Given the description of an element on the screen output the (x, y) to click on. 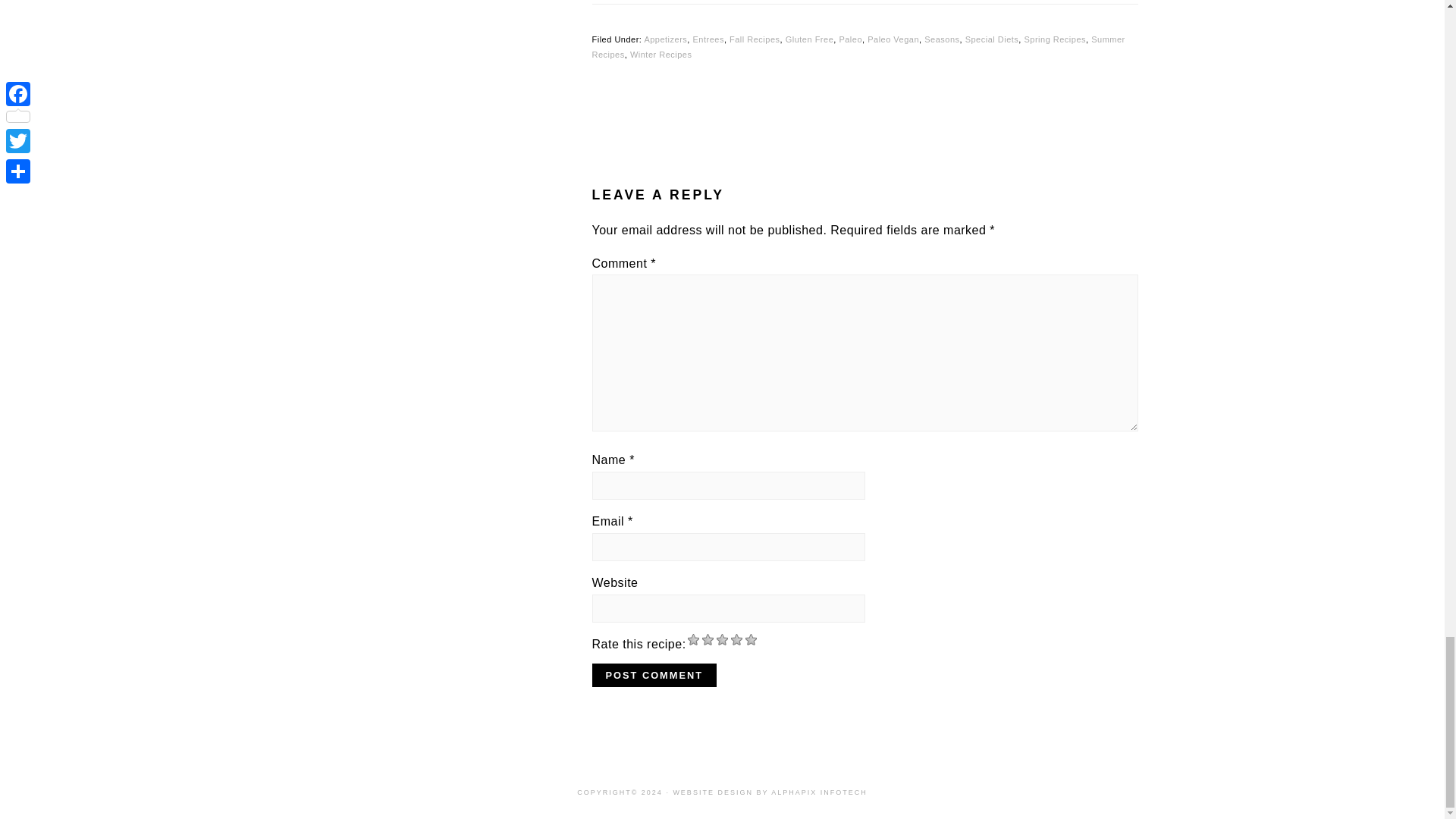
Gluten Free (810, 39)
Entrees (708, 39)
Appetizers (665, 39)
Post Comment (653, 675)
Fall Recipes (754, 39)
